Given the description of an element on the screen output the (x, y) to click on. 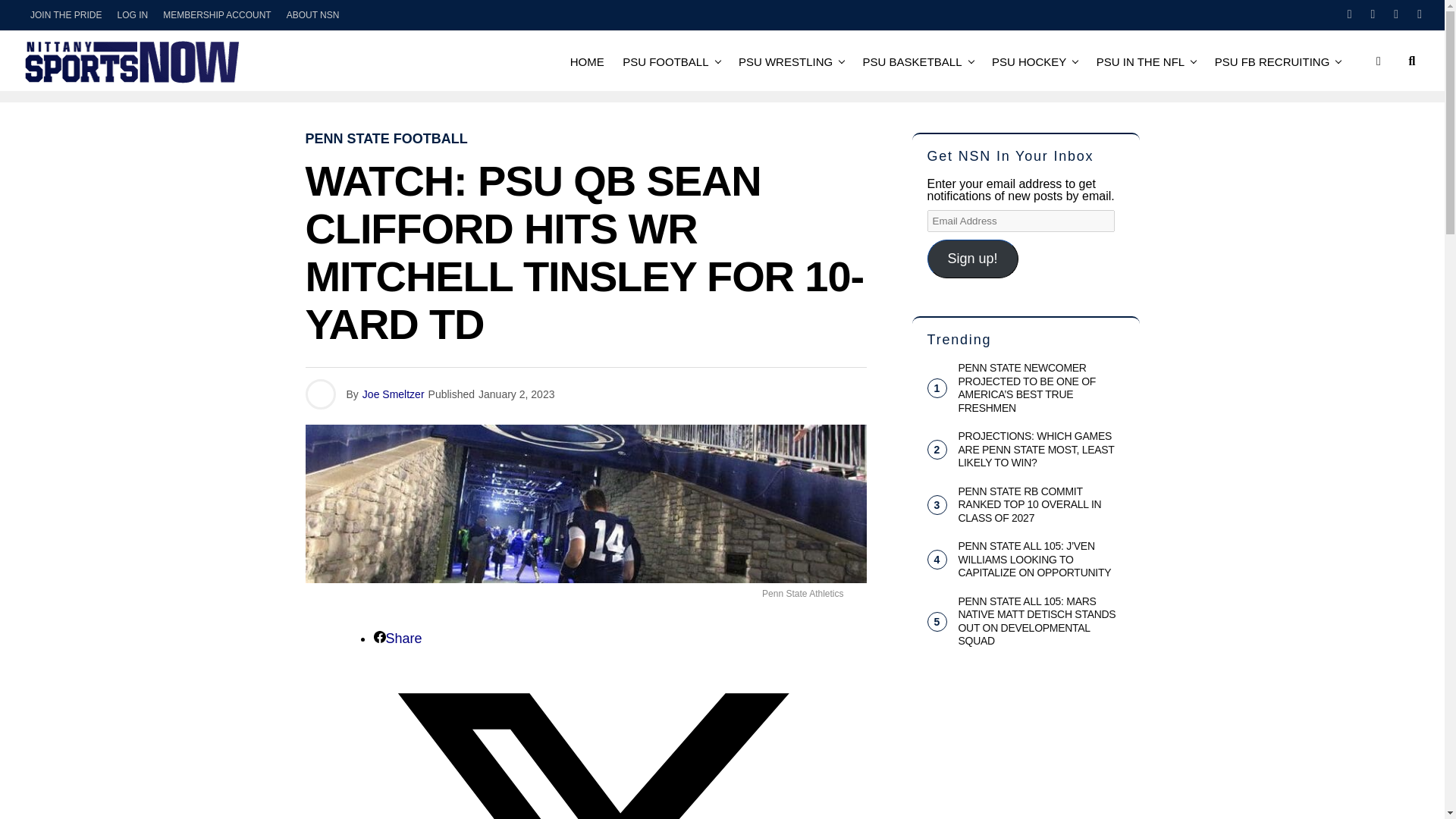
Posts by Joe Smeltzer (393, 394)
PSU WRESTLING (785, 61)
ABOUT NSN (313, 15)
MEMBERSHIP ACCOUNT (216, 15)
JOIN THE PRIDE (66, 15)
LOG IN (132, 15)
Share on Share (397, 638)
PSU FOOTBALL (665, 61)
